Given the description of an element on the screen output the (x, y) to click on. 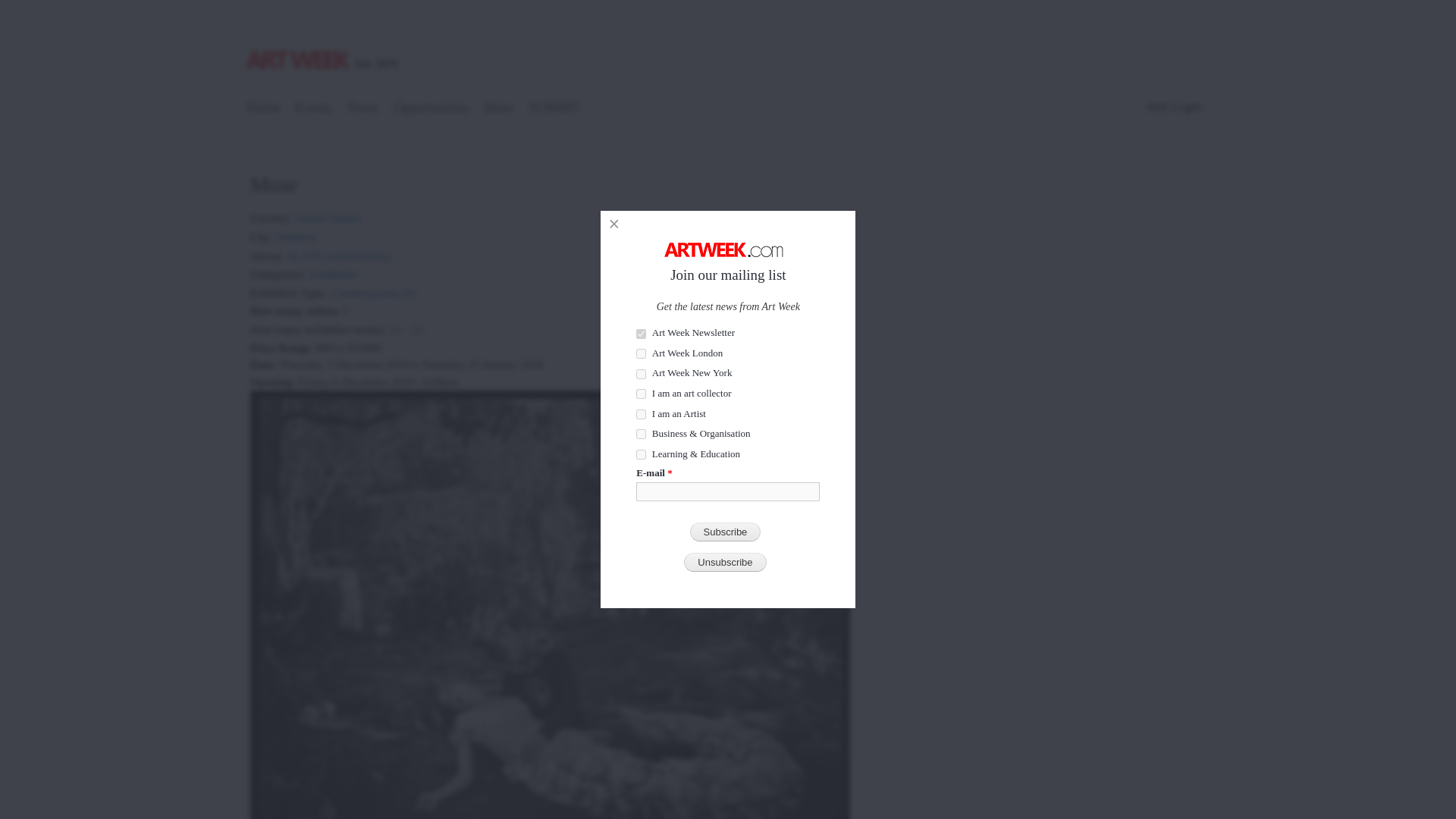
News (362, 109)
SUBMIT (553, 109)
Skip to main content (695, 1)
17672 (641, 393)
Exhibition (333, 269)
17787 (641, 414)
30823 (641, 353)
Home (263, 109)
Art news (362, 109)
6189 (641, 433)
Home (325, 43)
Events (313, 109)
Opportunities (430, 109)
Oakland (296, 232)
Join (1157, 106)
